Given the description of an element on the screen output the (x, y) to click on. 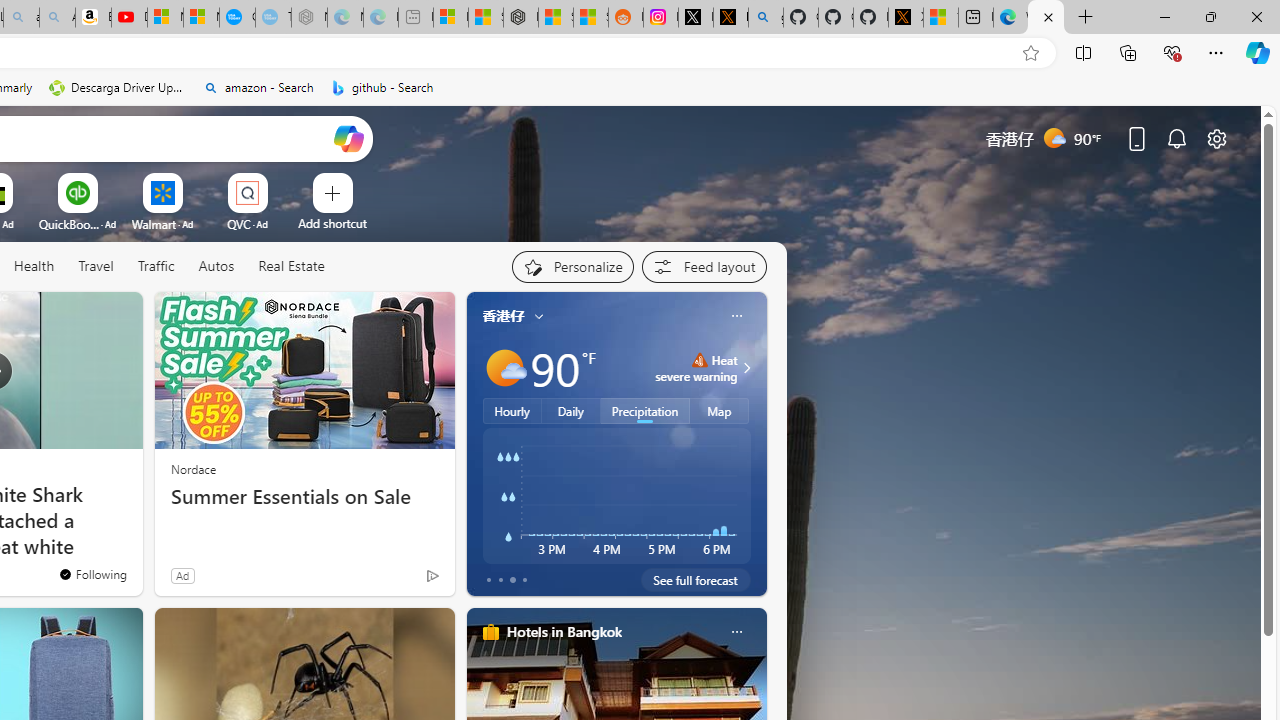
hotels-header-icon (490, 632)
github - Search (765, 17)
My location (538, 315)
Add a site (332, 223)
tab-2 (511, 579)
Real Estate (290, 267)
Class: weather-arrow-glyph (746, 367)
tab-1 (500, 579)
X Privacy Policy (905, 17)
Mostly sunny (504, 368)
